Given the description of an element on the screen output the (x, y) to click on. 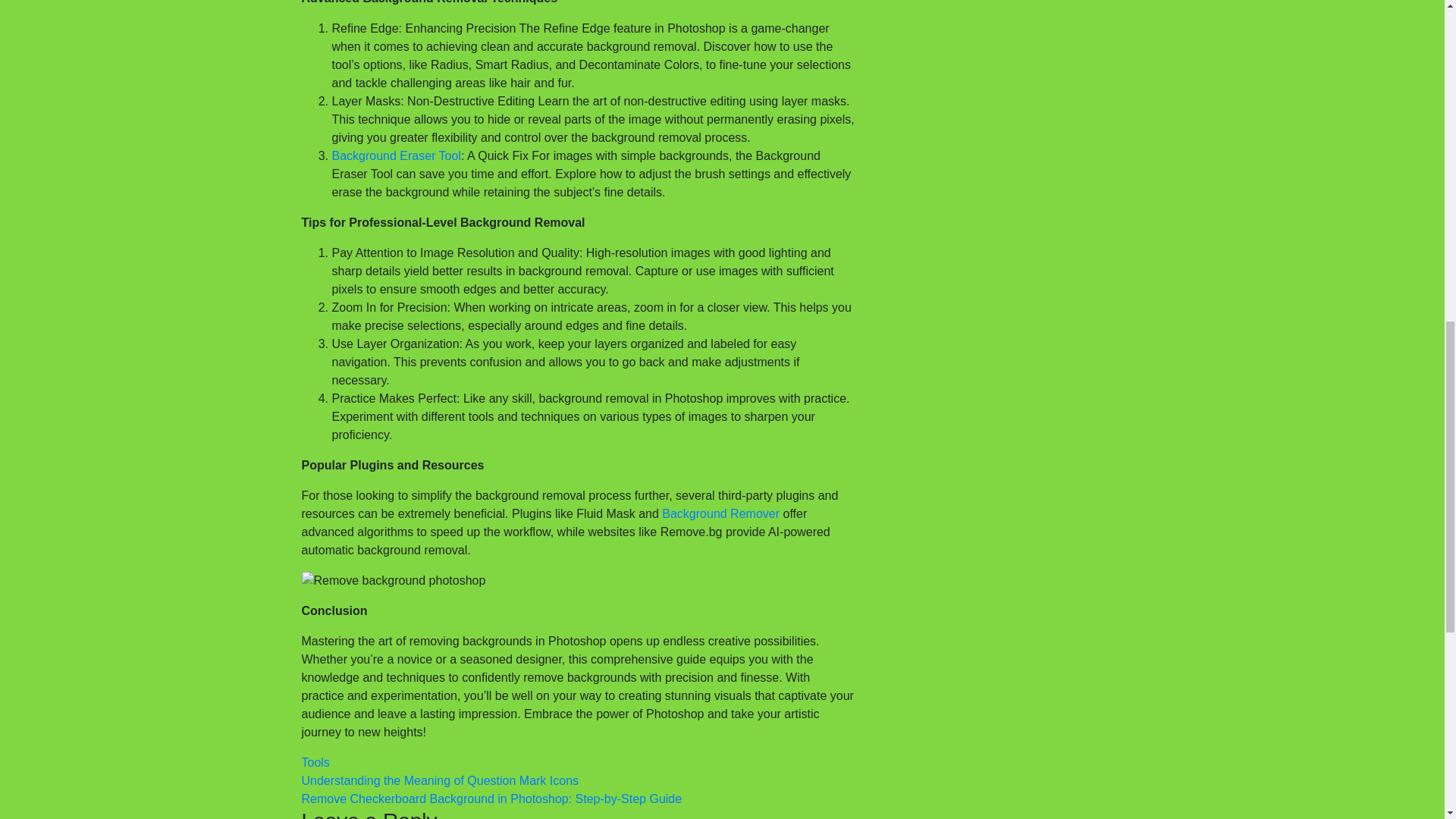
Background Eraser Tool (396, 155)
Tools (315, 762)
Understanding the Meaning of Question Mark Icons (440, 780)
Background Remover (720, 513)
